Given the description of an element on the screen output the (x, y) to click on. 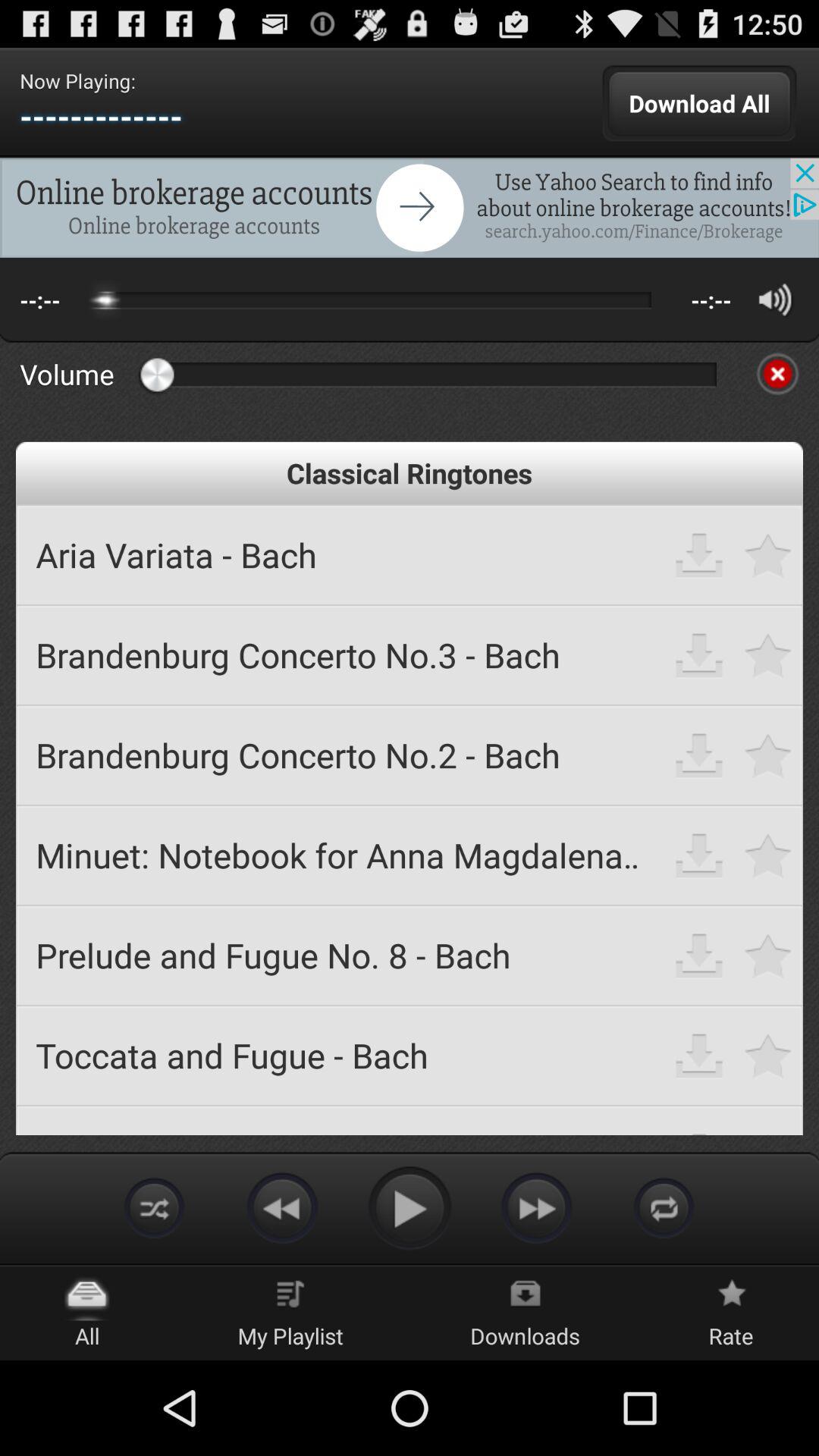
download prelude and fugue (699, 954)
